Given the description of an element on the screen output the (x, y) to click on. 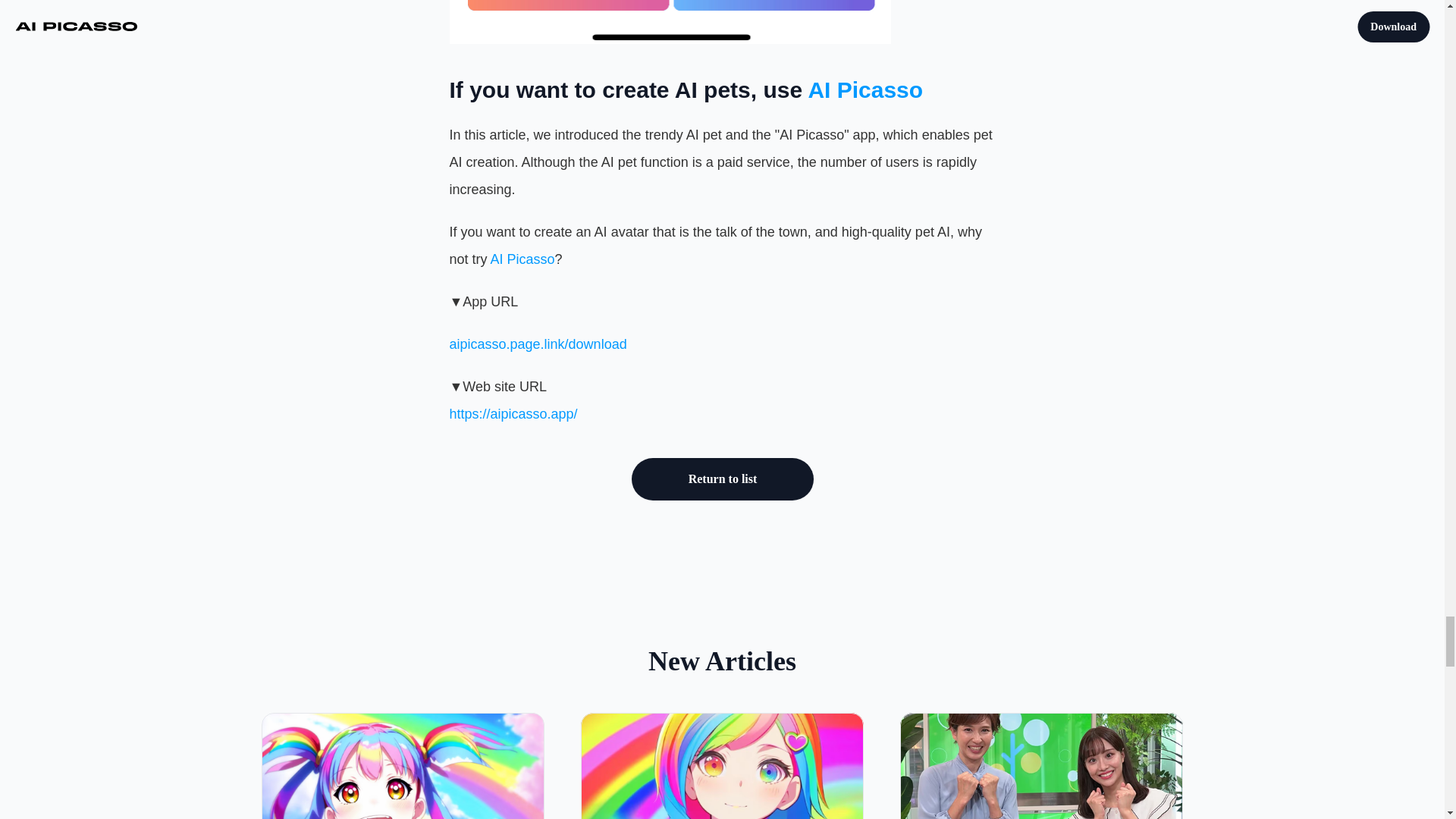
Return to list (721, 478)
AI Picasso (522, 258)
AI Picasso (865, 89)
